Given the description of an element on the screen output the (x, y) to click on. 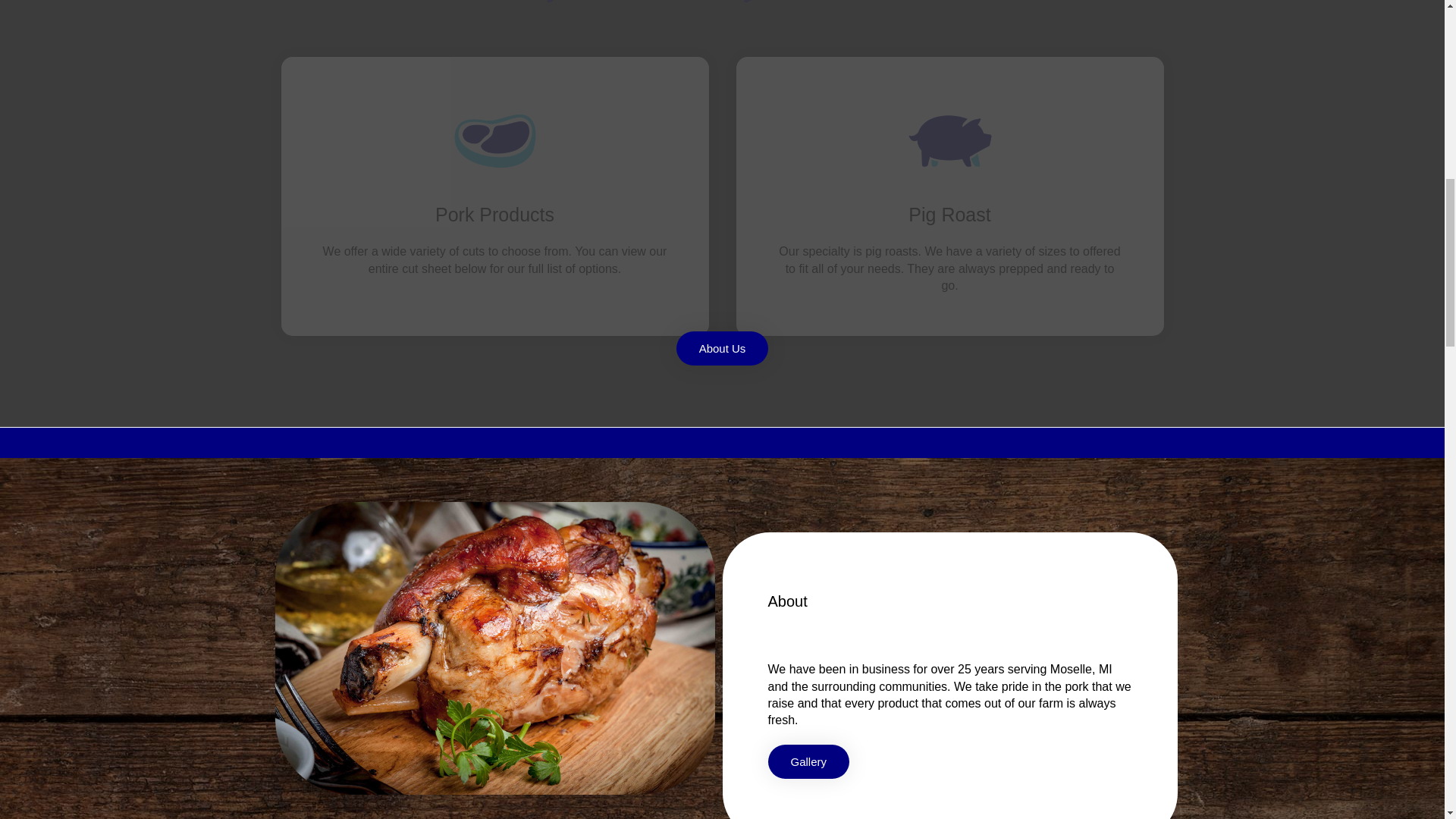
Home 2 (949, 140)
Home 3 (494, 648)
About Us (722, 348)
Gallery (807, 761)
Home 1 (494, 140)
